Given the description of an element on the screen output the (x, y) to click on. 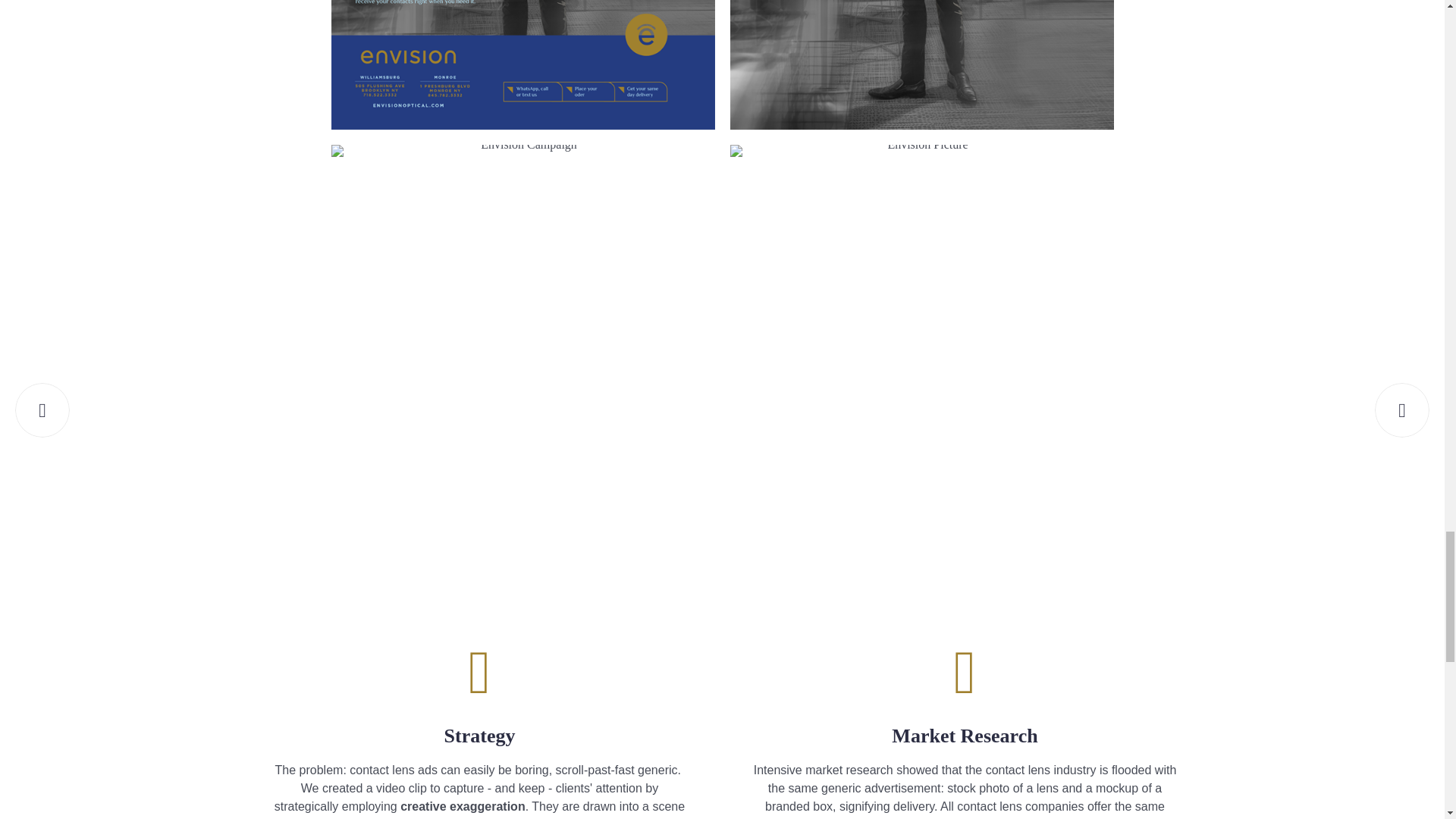
Envision-Campaign-3-1 (522, 64)
